Given the description of an element on the screen output the (x, y) to click on. 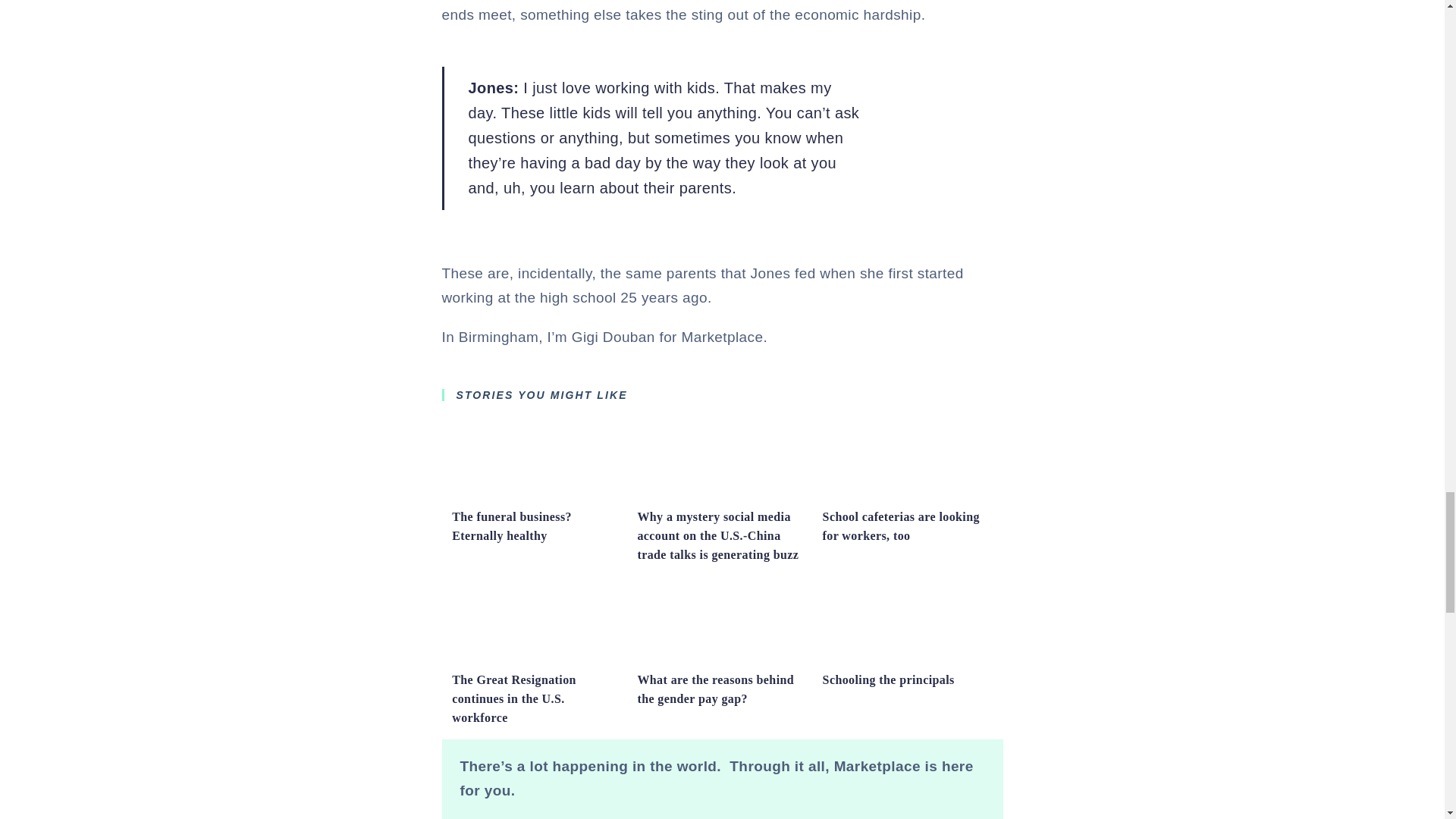
The funeral business? Eternally healthy (536, 494)
The funeral business? Eternally healthy (511, 526)
